Given the description of an element on the screen output the (x, y) to click on. 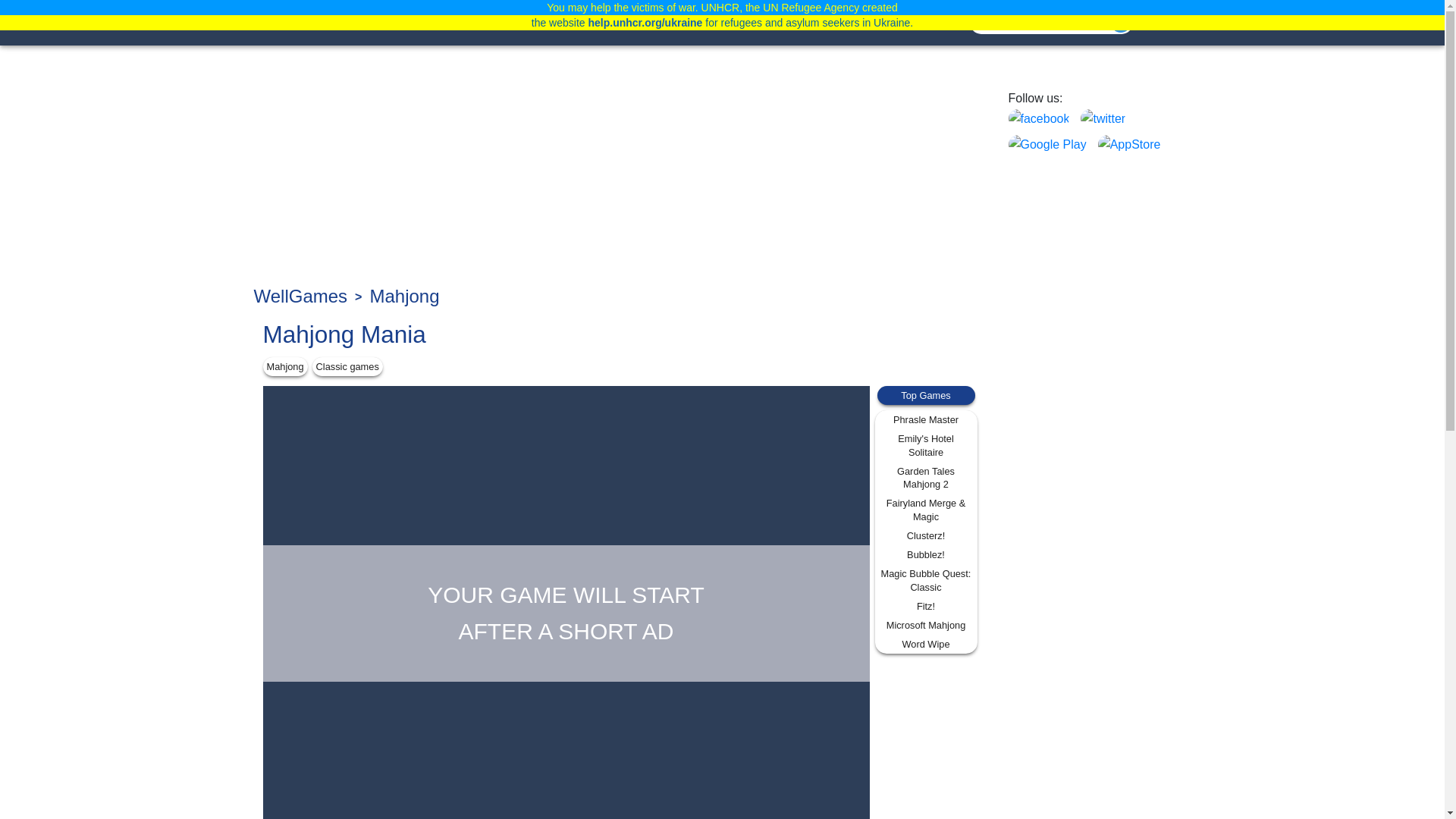
Match 3 (629, 22)
Puzzle (564, 22)
Bubble Shooter (850, 22)
Mahjong (700, 22)
Social (765, 22)
